Given the description of an element on the screen output the (x, y) to click on. 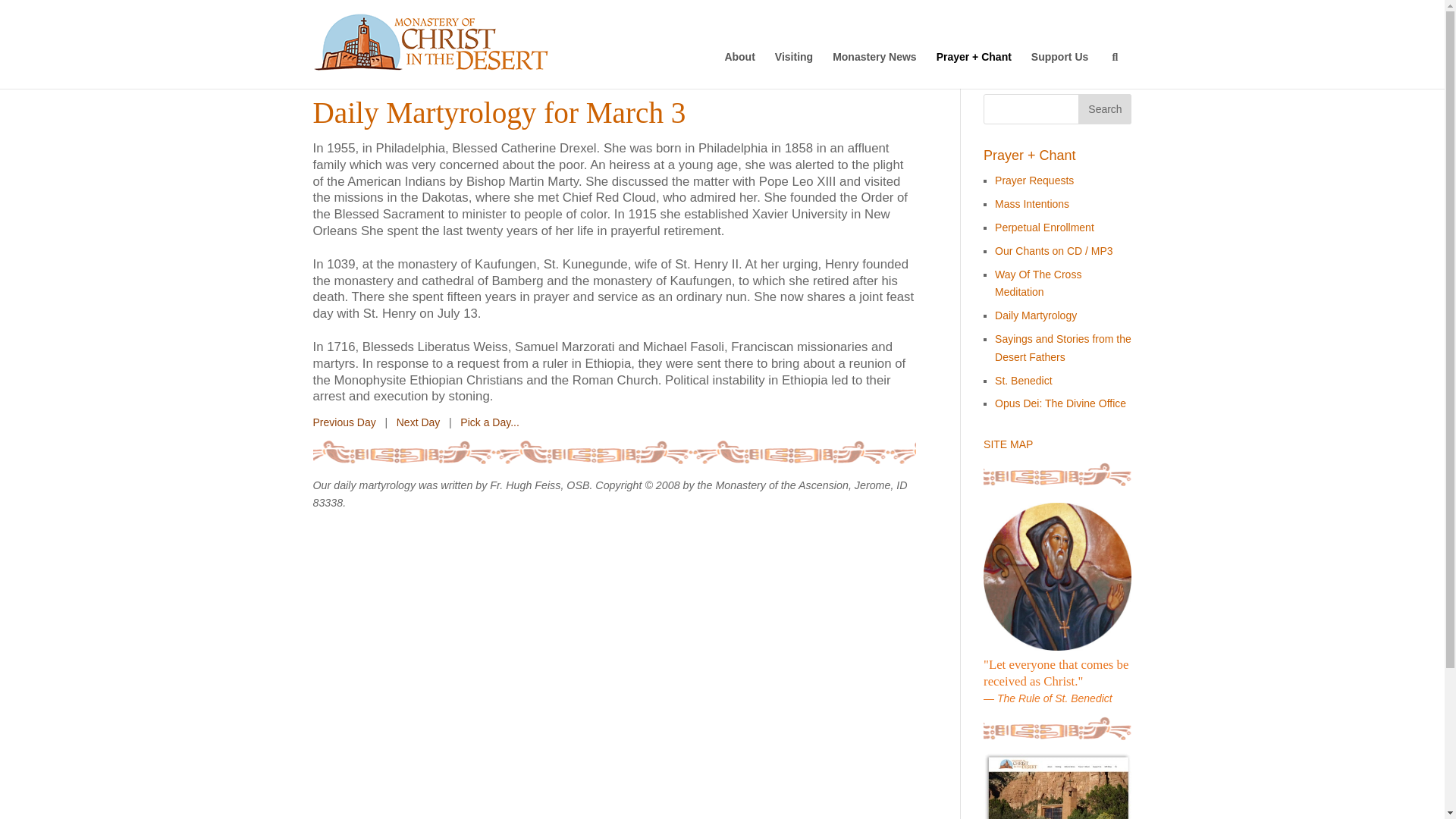
Search (1104, 109)
Monastery News (874, 63)
Visiting (793, 63)
About (739, 63)
